Given the description of an element on the screen output the (x, y) to click on. 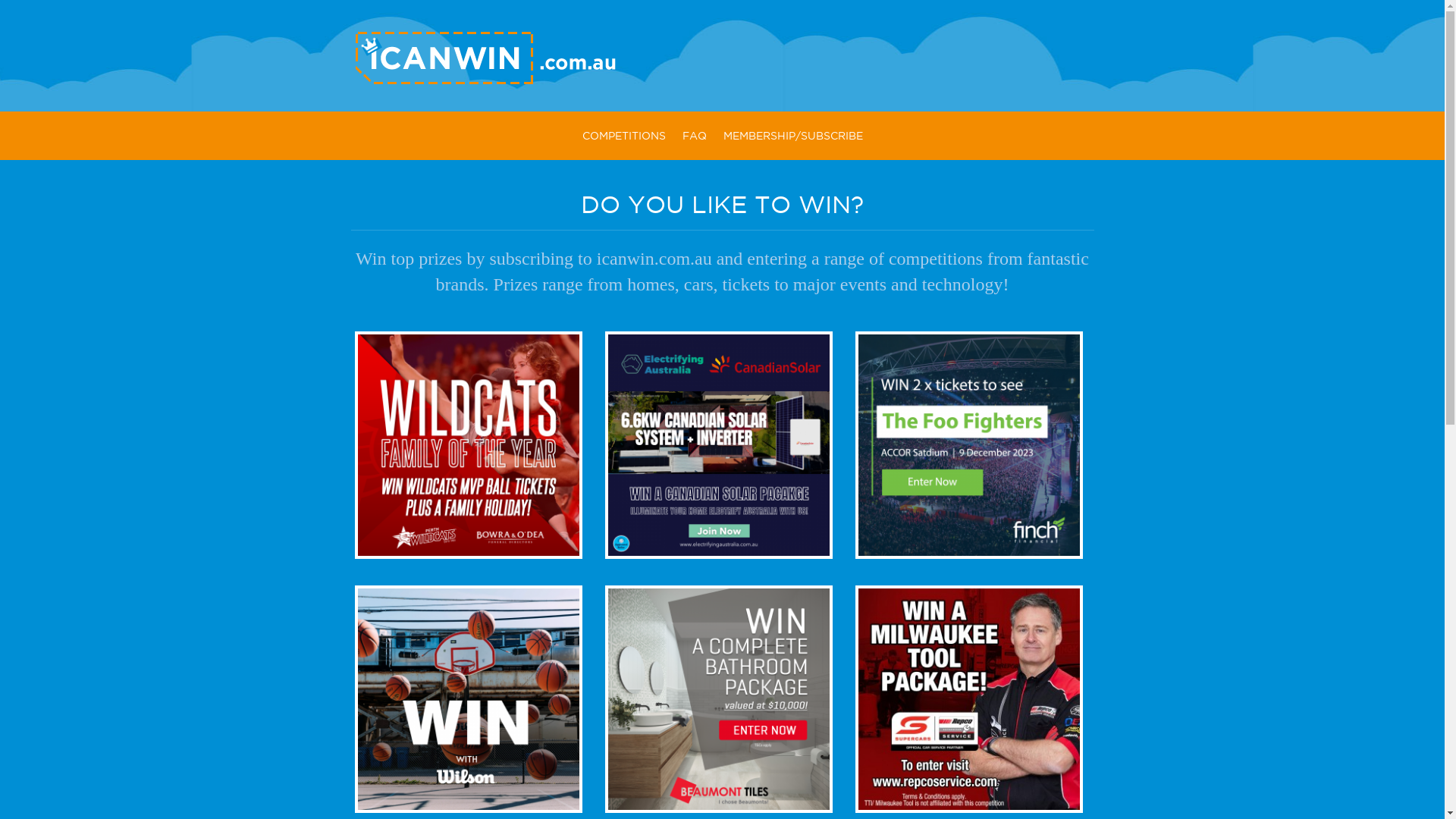
COMPETITIONS Element type: text (623, 136)
FAQ Element type: text (693, 136)
MEMBERSHIP/SUBSCRIBE Element type: text (792, 136)
Icanwin.com.au Element type: hover (484, 80)
